Given the description of an element on the screen output the (x, y) to click on. 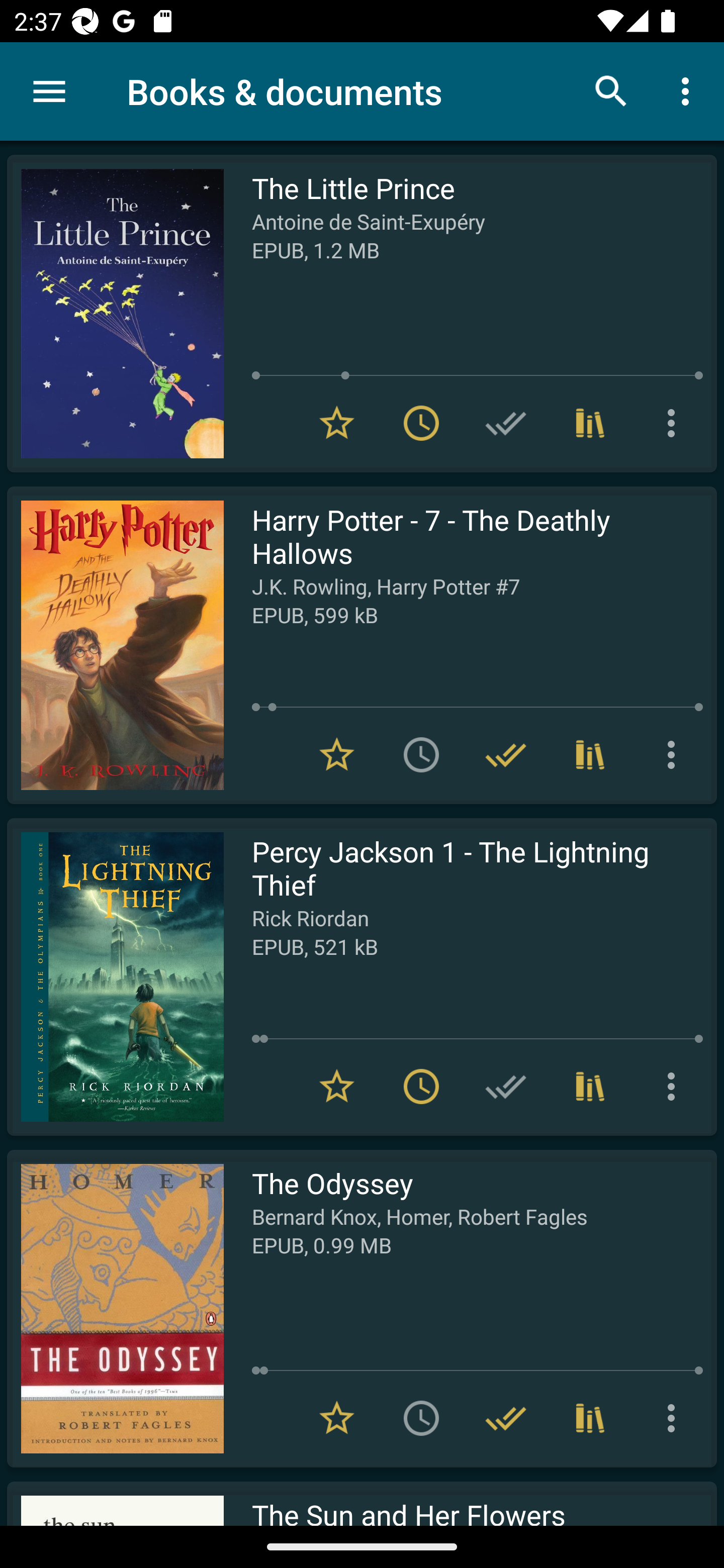
Menu (49, 91)
Search books & documents (611, 90)
More options (688, 90)
Read The Little Prince (115, 313)
Remove from Favorites (336, 423)
Remove from To read (421, 423)
Add to Have read (505, 423)
Collections (1) (590, 423)
More options (674, 423)
Read Harry Potter - 7 - The Deathly Hallows (115, 645)
Remove from Favorites (336, 753)
Add to To read (421, 753)
Remove from Have read (505, 753)
Collections (3) (590, 753)
More options (674, 753)
Read Percy Jackson 1 - The Lightning Thief (115, 976)
Remove from Favorites (336, 1086)
Remove from To read (421, 1086)
Add to Have read (505, 1086)
Collections (1) (590, 1086)
More options (674, 1086)
Read The Odyssey (115, 1308)
Remove from Favorites (336, 1417)
Add to To read (421, 1417)
Remove from Have read (505, 1417)
Collections (3) (590, 1417)
More options (674, 1417)
